Given the description of an element on the screen output the (x, y) to click on. 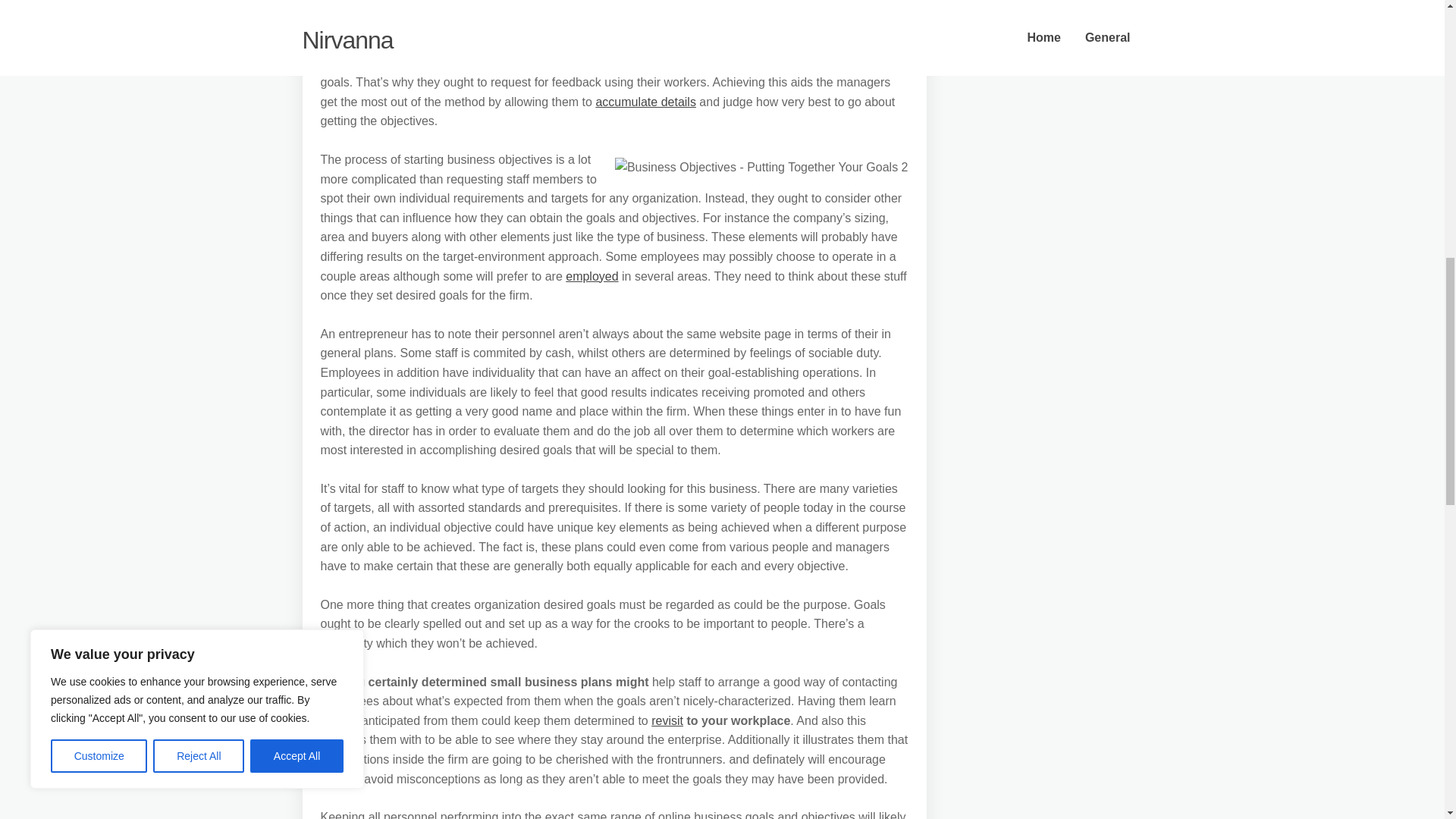
employed (591, 276)
accumulate details (645, 101)
revisit (666, 720)
